Given the description of an element on the screen output the (x, y) to click on. 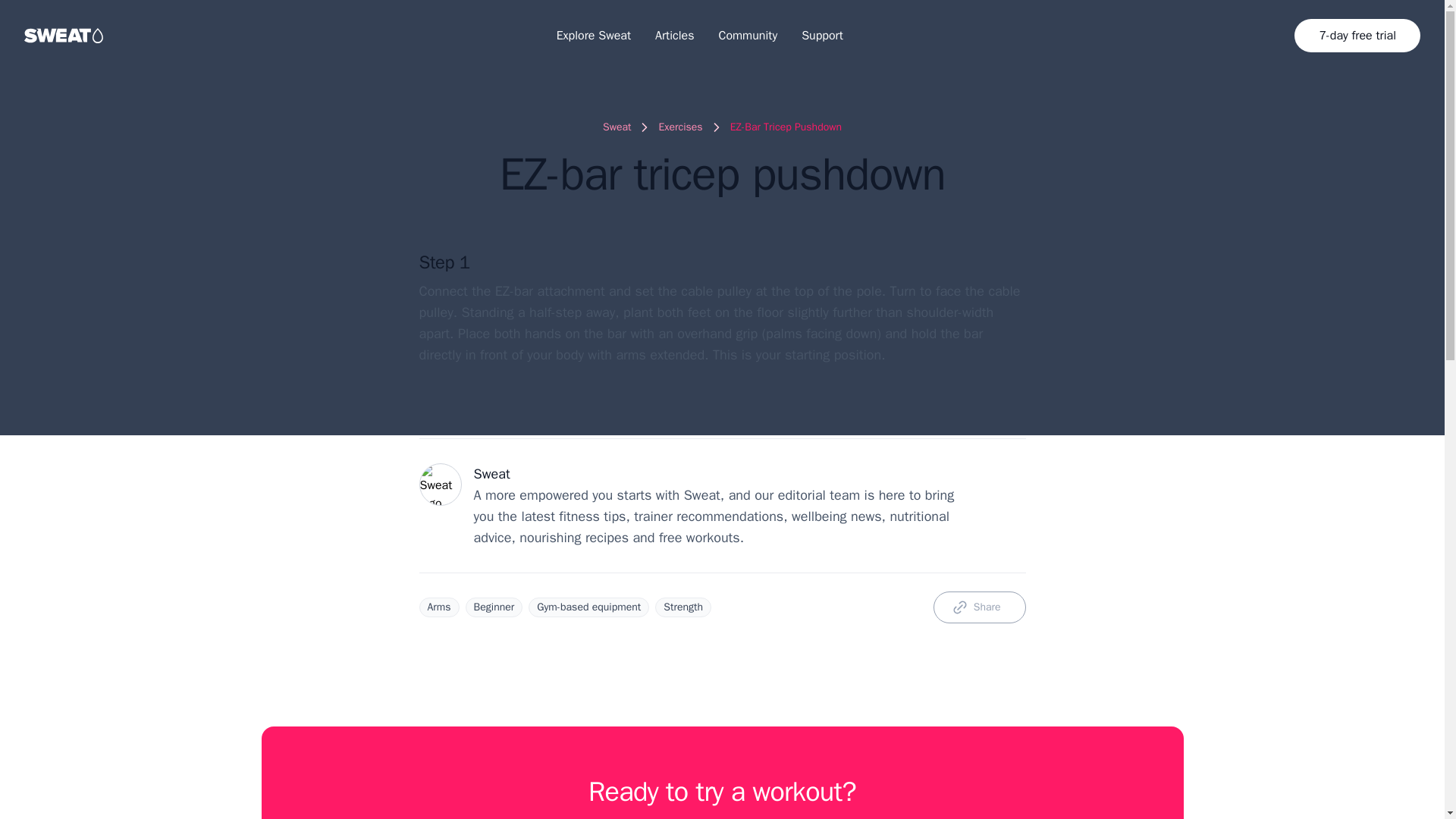
7-day free trial (1357, 35)
Support (822, 35)
EZ-Bar Tricep Pushdown (785, 127)
Community (747, 35)
Exercises (679, 127)
Share (979, 607)
Articles (674, 35)
Sweat (616, 127)
Explore Sweat (593, 35)
